Given the description of an element on the screen output the (x, y) to click on. 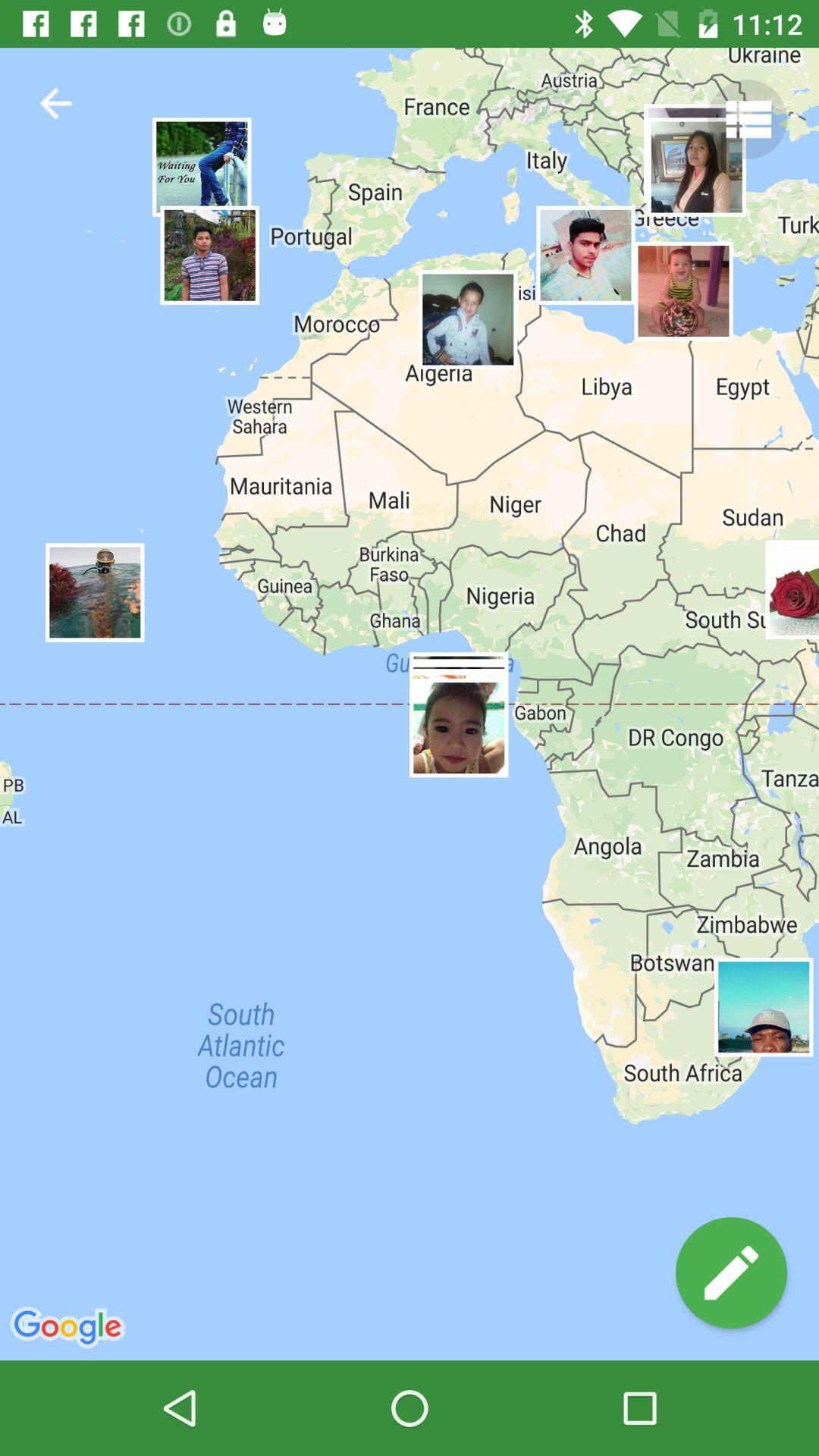
more options (747, 119)
